Given the description of an element on the screen output the (x, y) to click on. 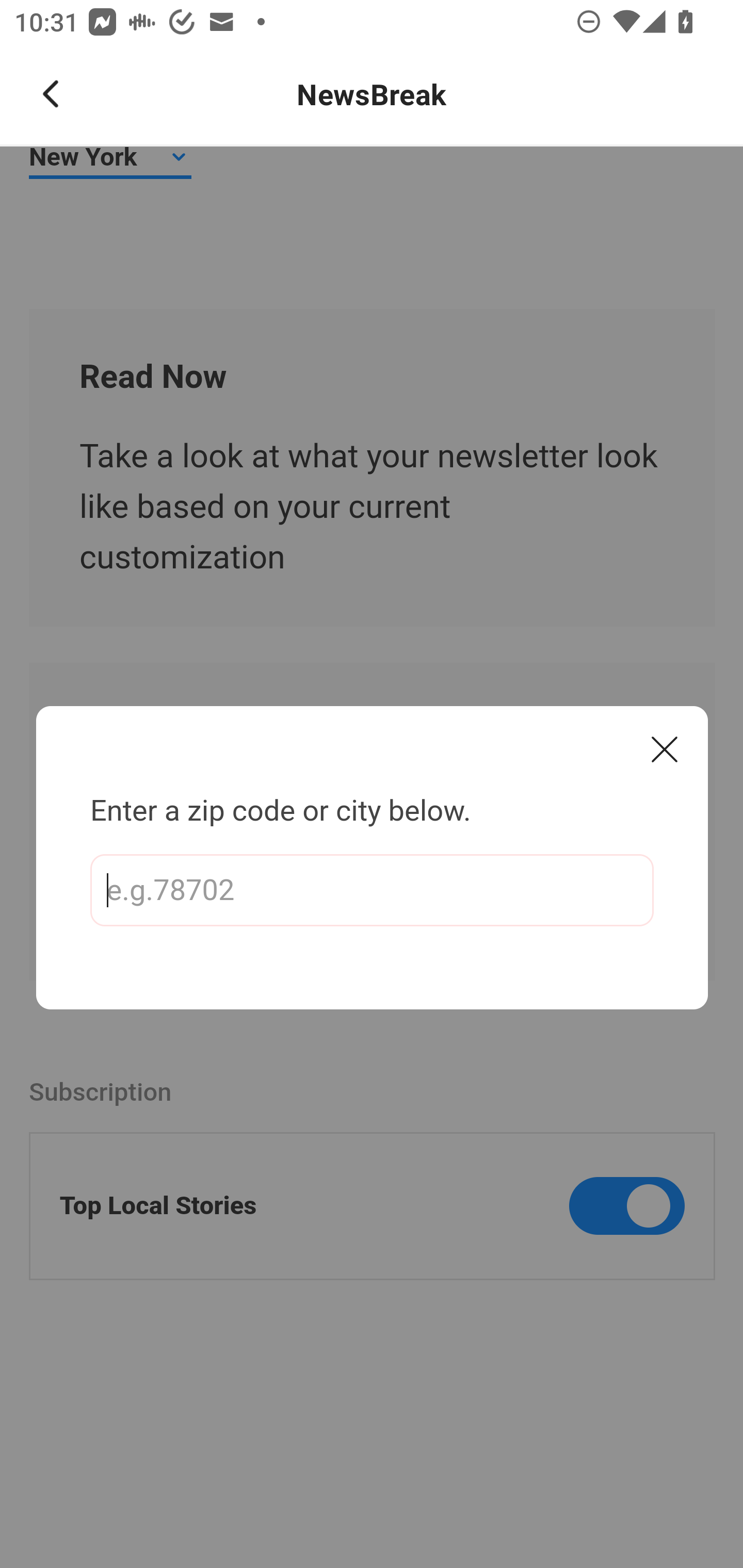
Navigate up (50, 93)
Close (665, 749)
